Given the description of an element on the screen output the (x, y) to click on. 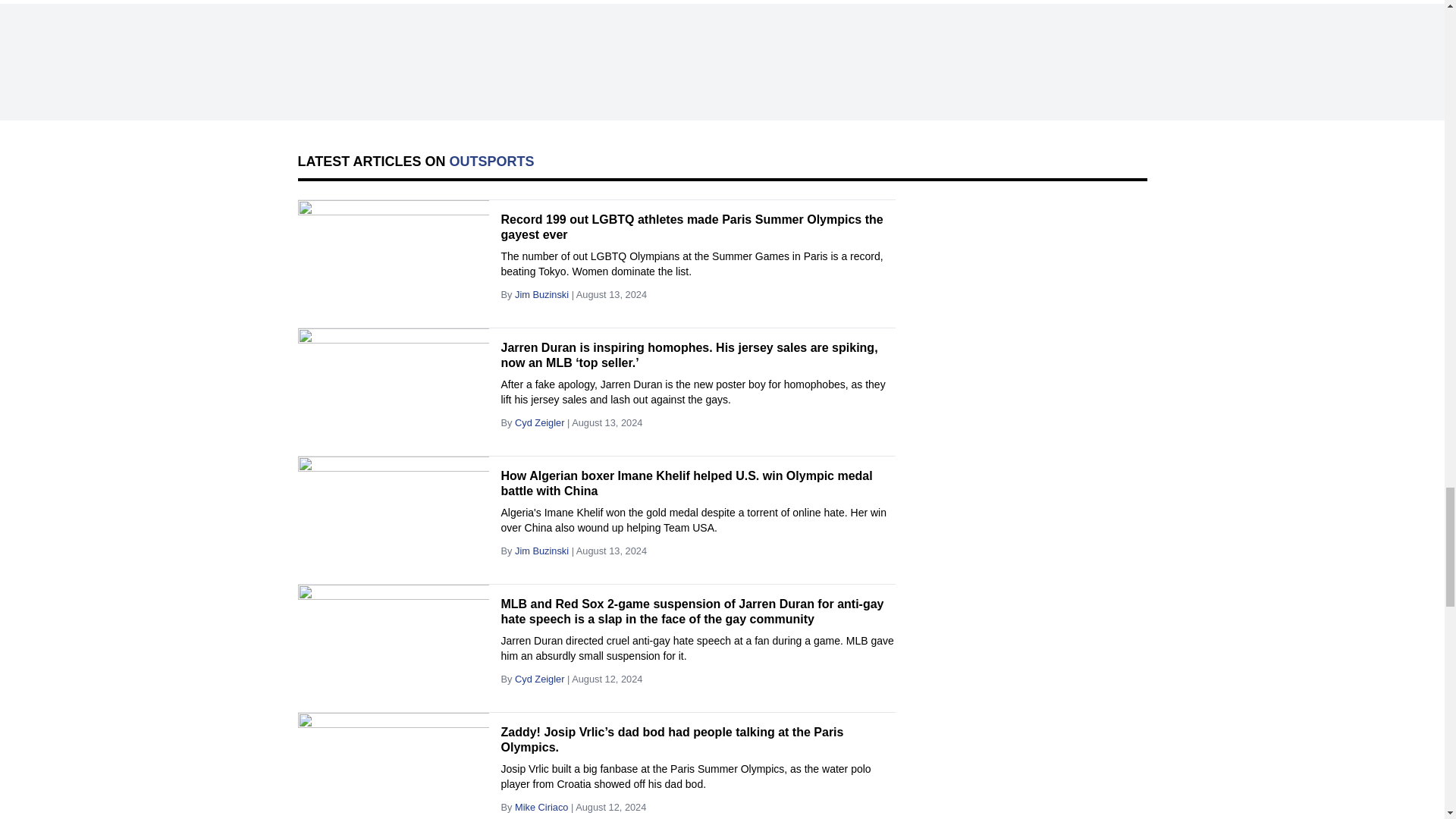
Jim Buzinski (542, 293)
Cyd Zeigler (539, 422)
